Given the description of an element on the screen output the (x, y) to click on. 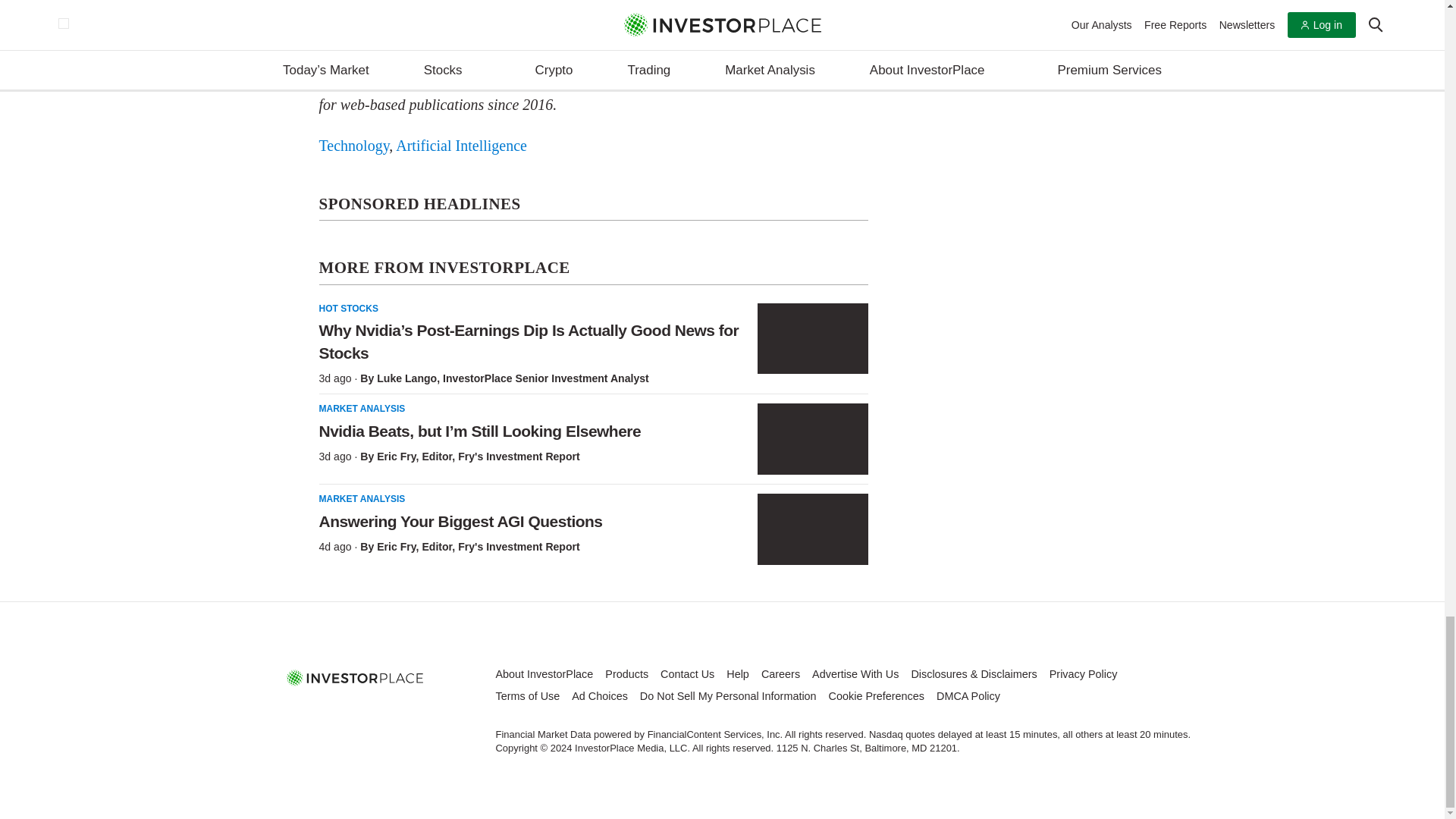
Visit our Facebook Page (319, 711)
View profile of Eric Fry (395, 456)
Answering Your Biggest AGI Questions (812, 529)
Articles from Artificial Intelligence industry (461, 145)
Subscribe to our RSS feed (389, 711)
View profile of Eric Fry (395, 546)
Articles from Technology industry (353, 145)
Visit our Twitter page (354, 711)
View profile of Luke Lango (406, 378)
